Given the description of an element on the screen output the (x, y) to click on. 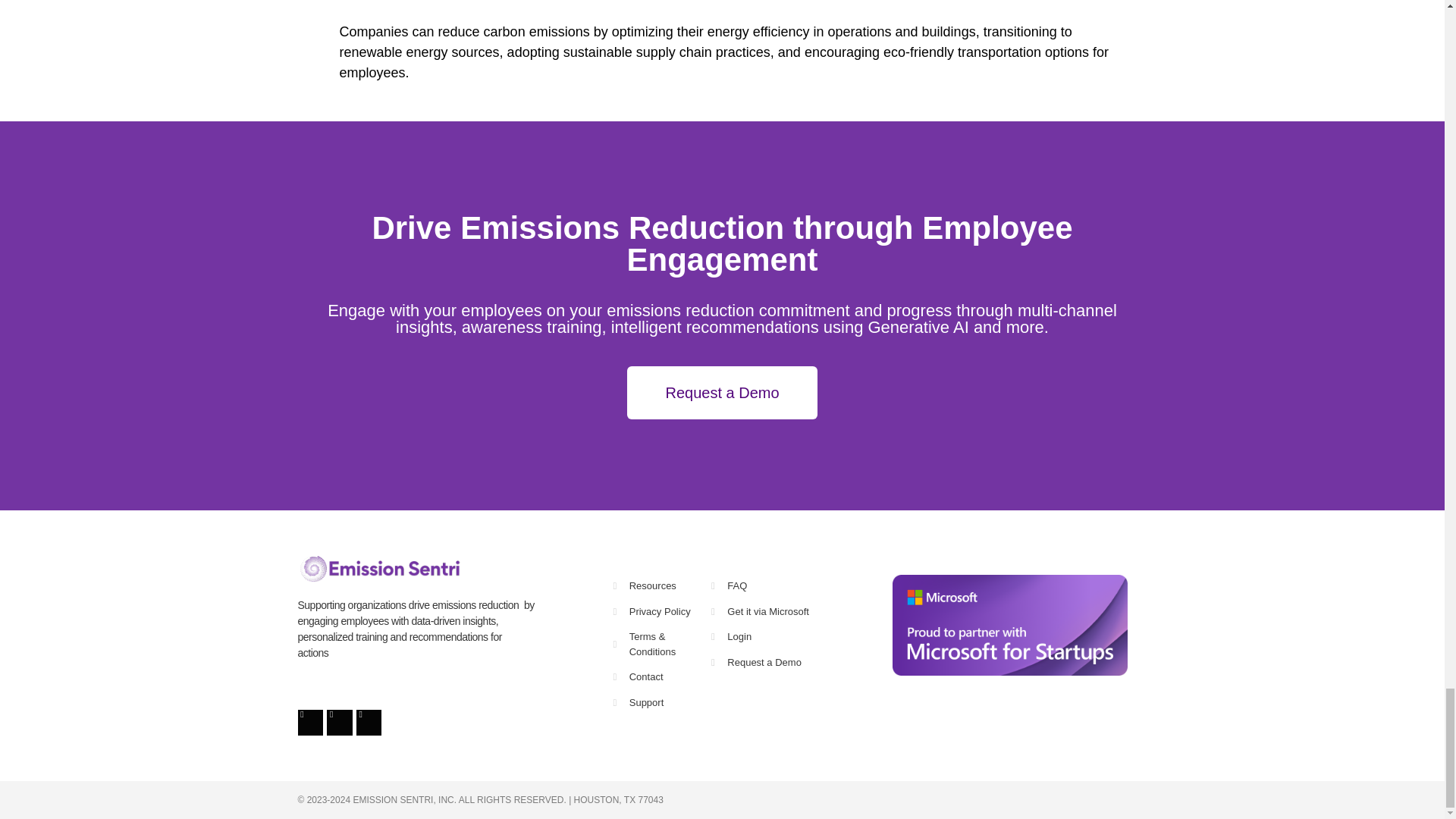
Resources (661, 585)
Privacy Policy (661, 611)
Request a Demo (721, 392)
Login (785, 636)
FAQ (785, 585)
Contact (661, 676)
Request a Demo (785, 662)
Support (661, 702)
Get it via Microsoft (785, 611)
